Given the description of an element on the screen output the (x, y) to click on. 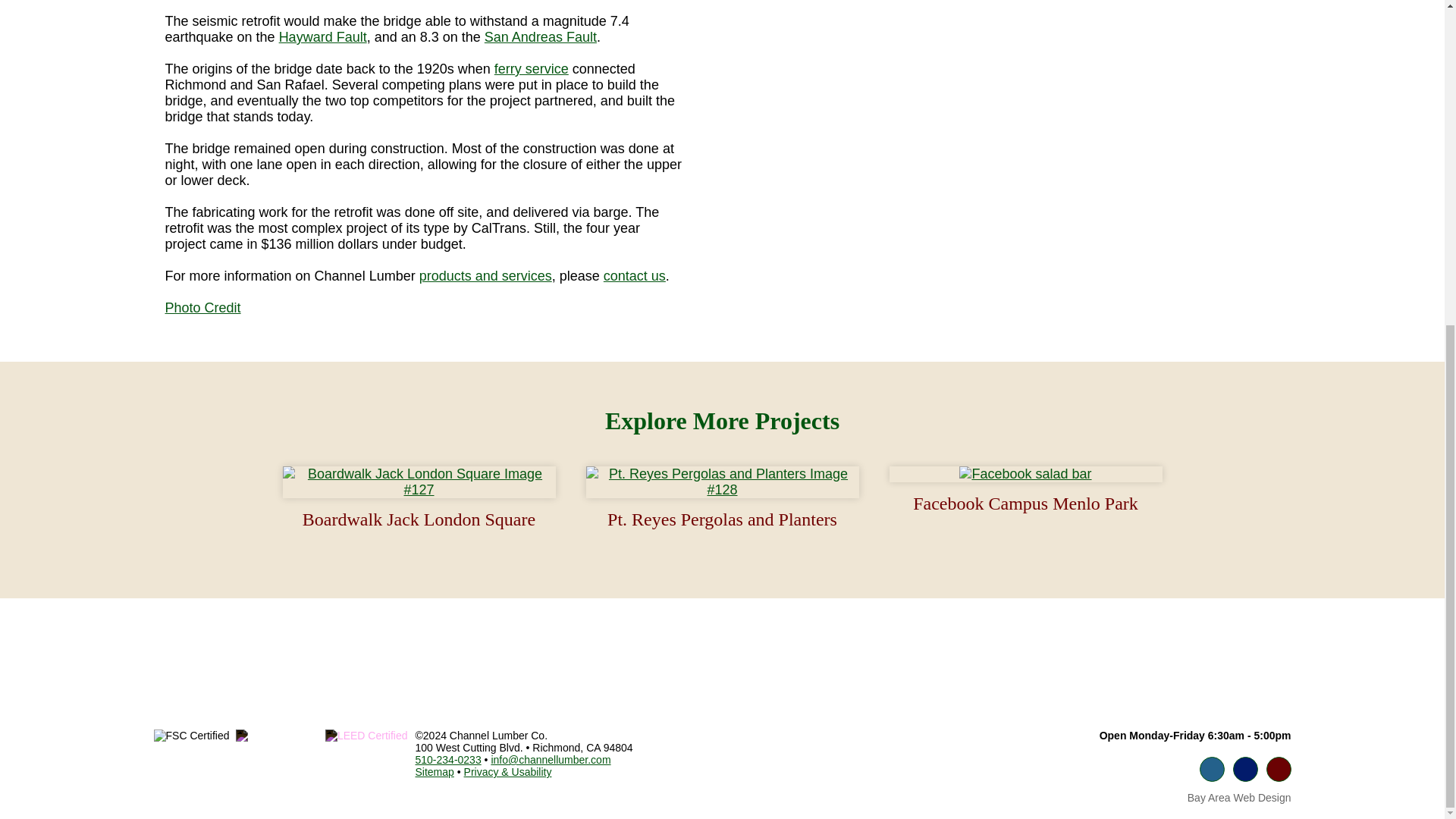
WCAG Accessibility (368, 735)
Bay Area Web Design (1239, 797)
Yelp (1278, 769)
contact us (634, 275)
San Andreas Fault (540, 37)
Hayward Fault (322, 37)
products and services (485, 275)
510-234-0233 (447, 759)
Facebook (1211, 769)
ferry service (532, 68)
Photo Credit (203, 307)
Sitemap (434, 771)
LinkedIn (1245, 769)
